Given the description of an element on the screen output the (x, y) to click on. 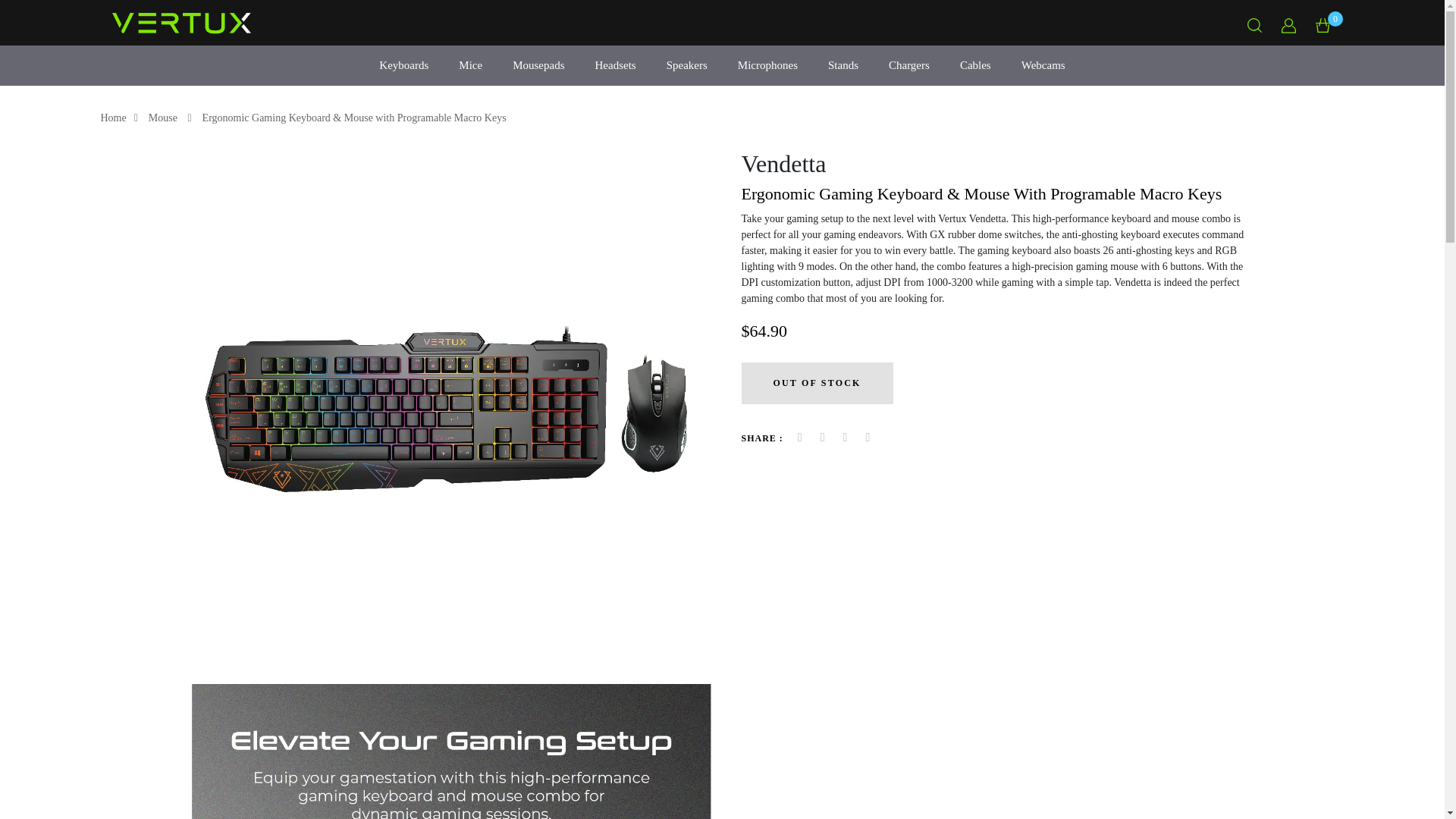
Microphones (767, 65)
Speakers (686, 65)
Chargers (909, 65)
Headsets (614, 65)
Headsets (614, 65)
Keyboards (403, 65)
Keyboards (403, 65)
Mousepads (538, 65)
Speakers (686, 65)
Mousepads (538, 65)
0 (1323, 23)
Webcams (1043, 65)
